Given the description of an element on the screen output the (x, y) to click on. 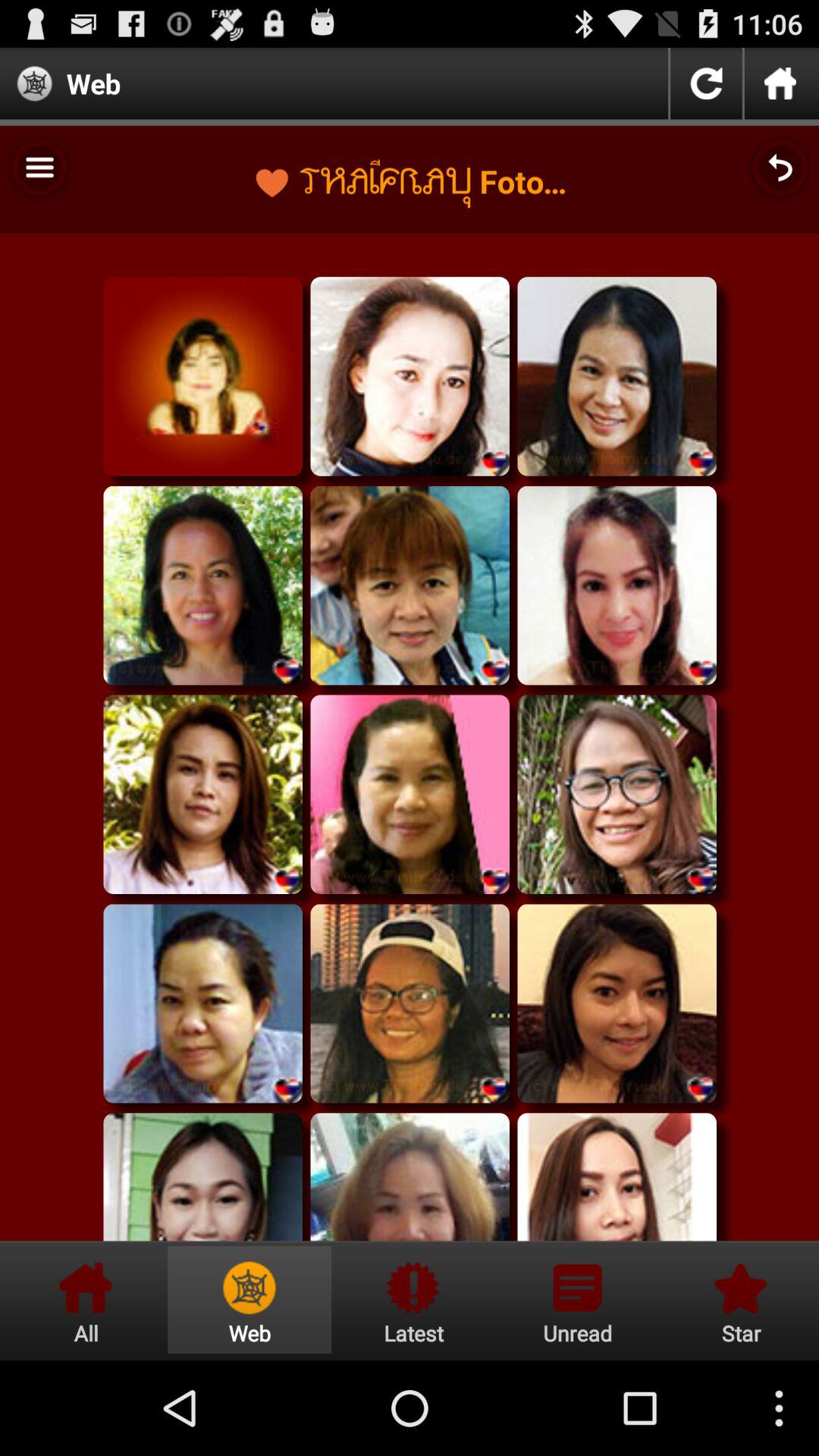
latest (413, 1299)
